Given the description of an element on the screen output the (x, y) to click on. 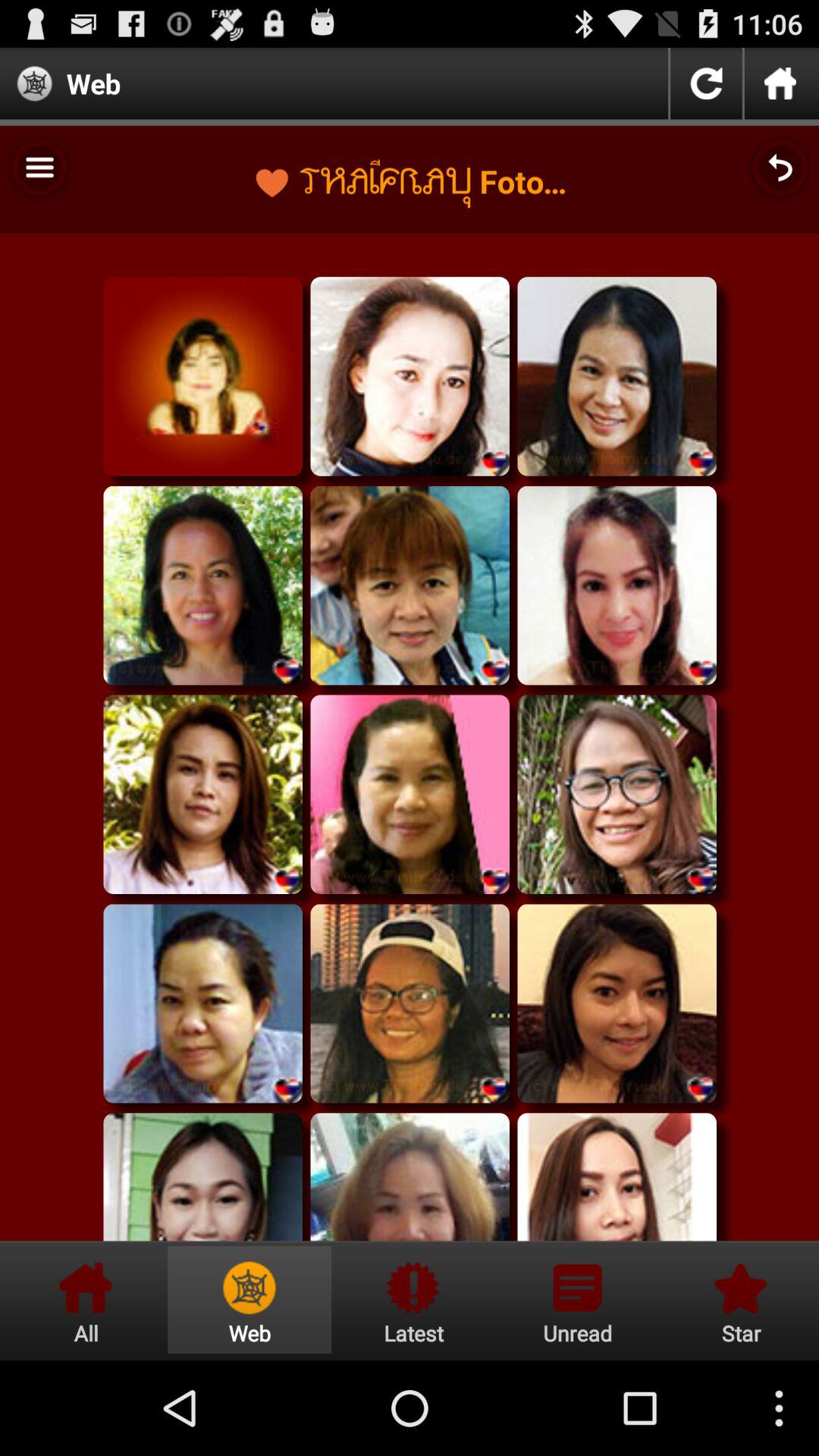
latest (413, 1299)
